Given the description of an element on the screen output the (x, y) to click on. 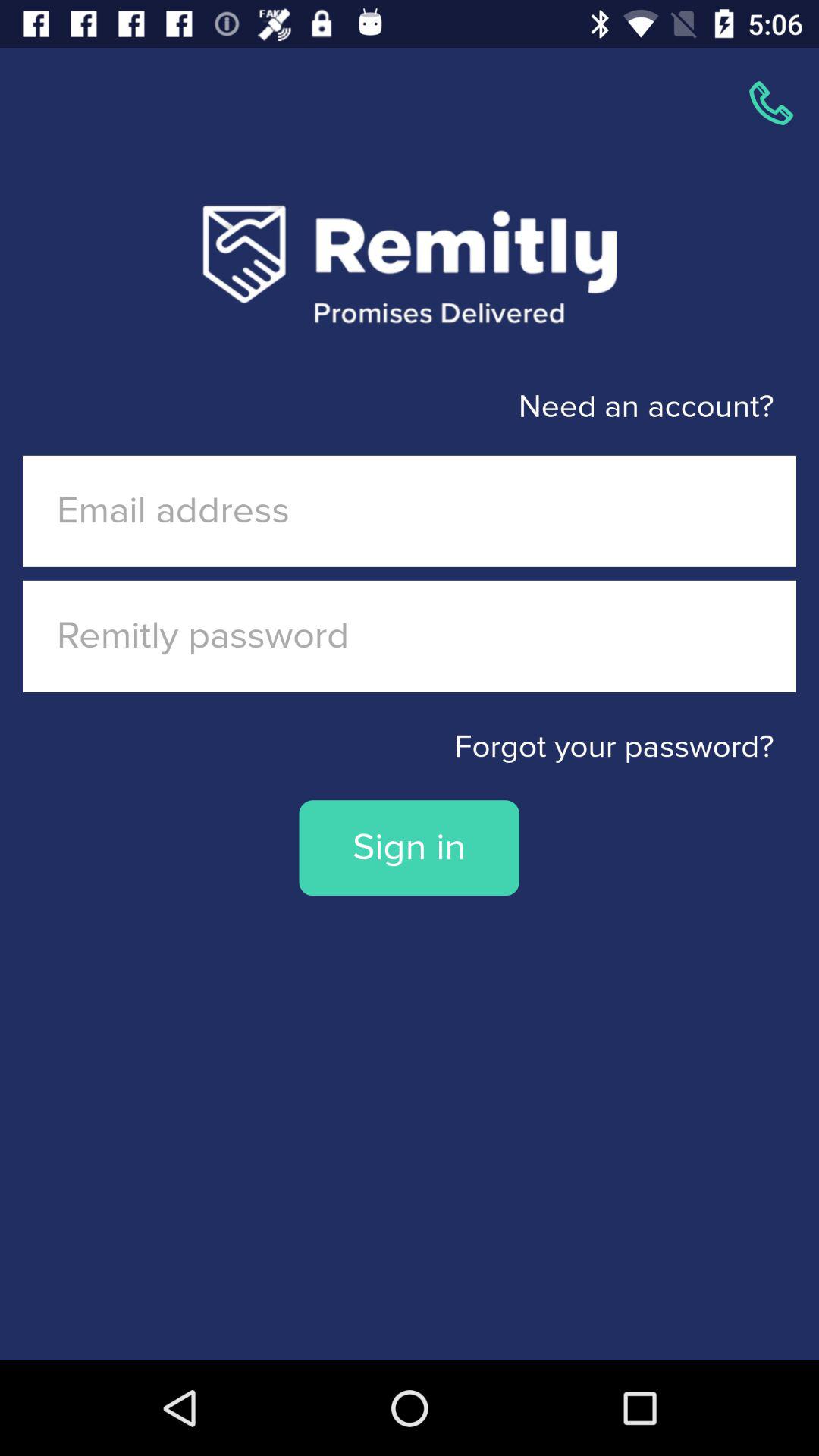
jump to forgot your password? app (409, 747)
